Given the description of an element on the screen output the (x, y) to click on. 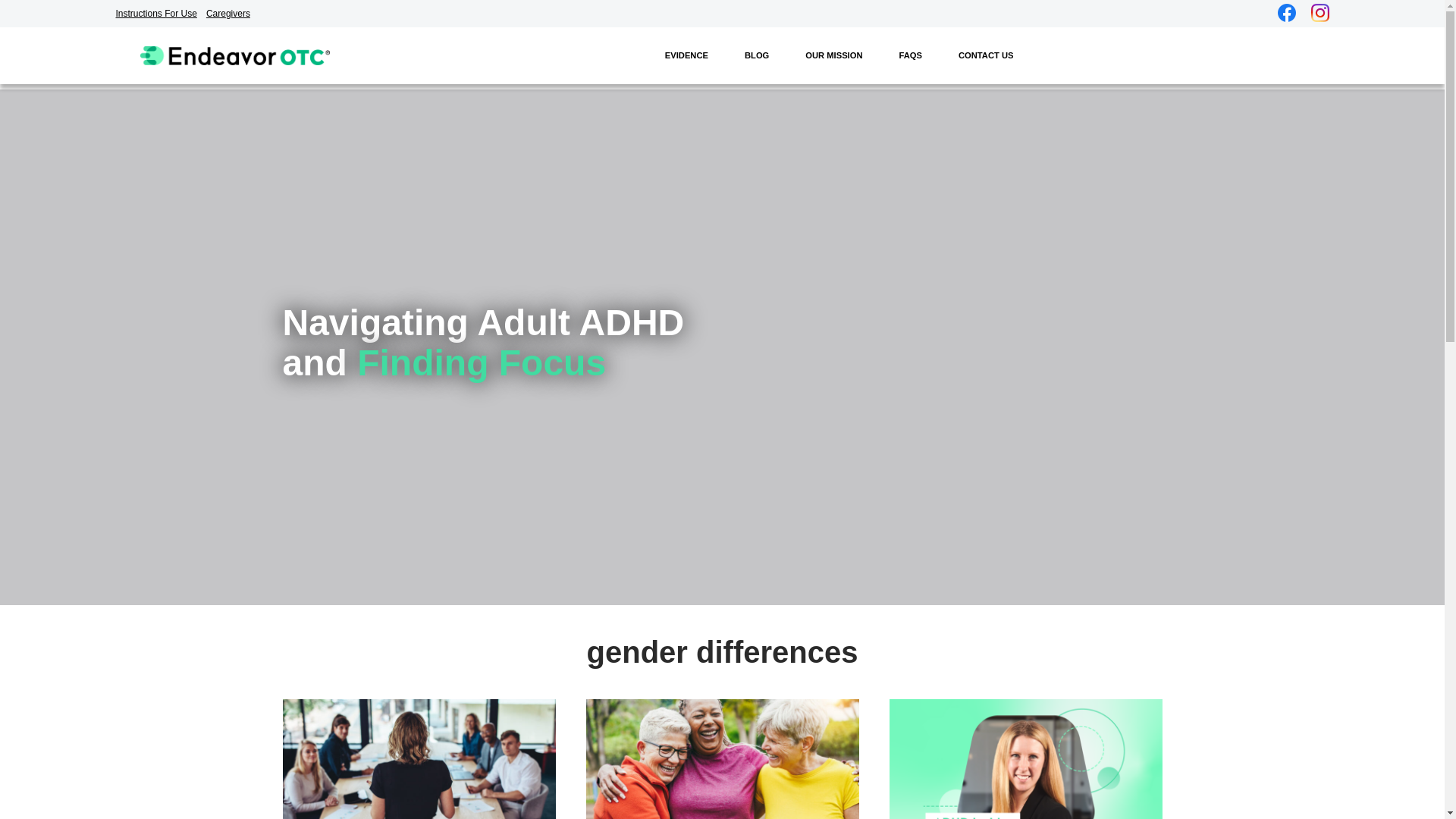
Caregivers (232, 13)
FAQS (910, 55)
DOWNLOAD ON THE PLAYSTORE (1098, 46)
DOWNLOAD ON THE APPSTORE (1235, 45)
Skip to content (15, 34)
Instructions For Use (160, 13)
CONTACT US (986, 55)
EVIDENCE (686, 55)
OUR MISSION (833, 55)
EndeavorOTC (234, 55)
BLOG (756, 55)
